Given the description of an element on the screen output the (x, y) to click on. 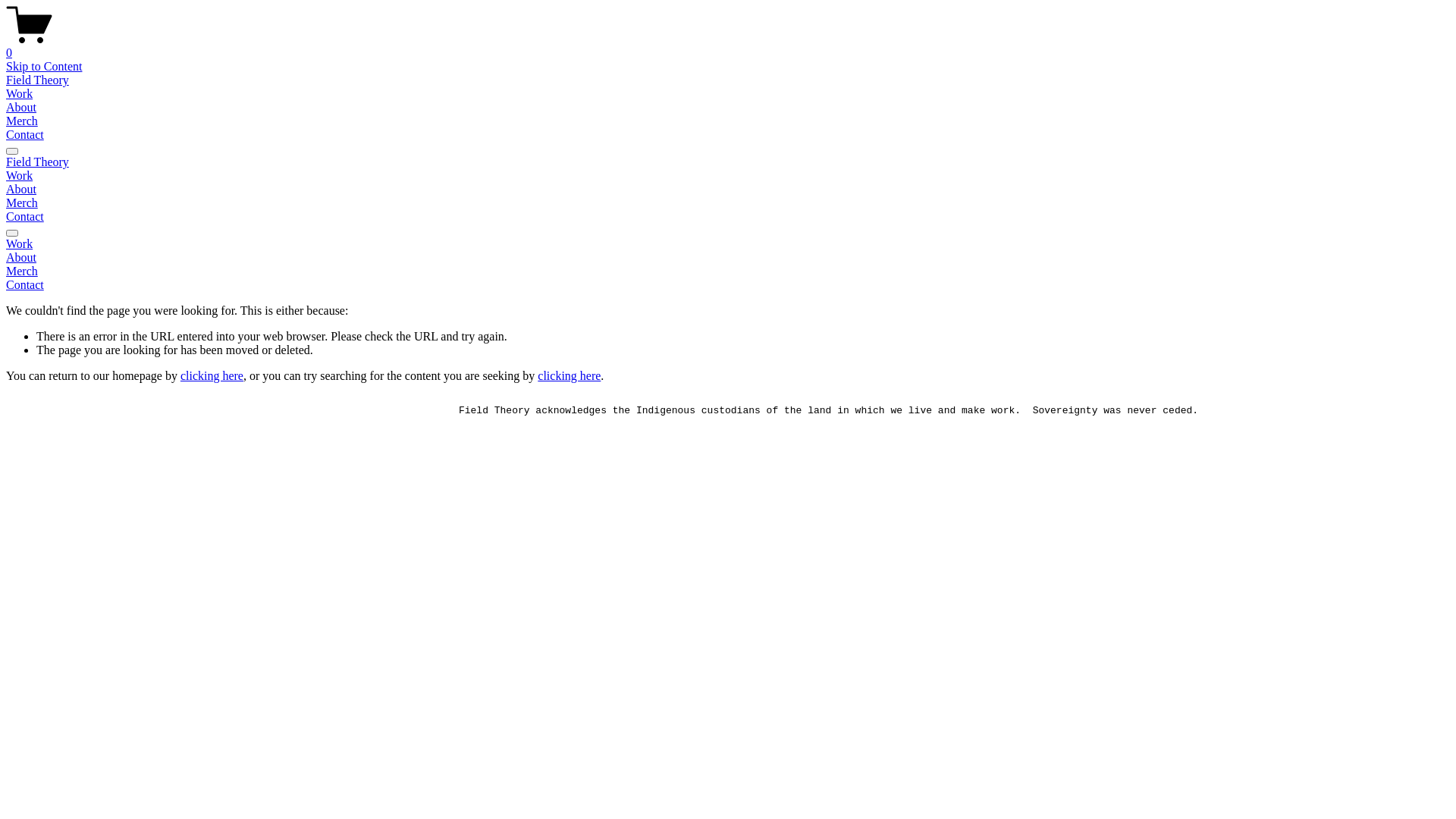
clicking here Element type: text (568, 375)
Field Theory Element type: text (37, 161)
Merch Element type: text (727, 271)
About Element type: text (21, 106)
Work Element type: text (19, 175)
0 Element type: text (727, 45)
Contact Element type: text (24, 216)
Merch Element type: text (21, 120)
About Element type: text (21, 188)
Contact Element type: text (727, 284)
Field Theory Element type: text (37, 79)
Skip to Content Element type: text (43, 65)
Contact Element type: text (24, 134)
Work Element type: text (19, 93)
About Element type: text (727, 257)
clicking here Element type: text (211, 375)
Work Element type: text (727, 244)
Merch Element type: text (21, 202)
